Given the description of an element on the screen output the (x, y) to click on. 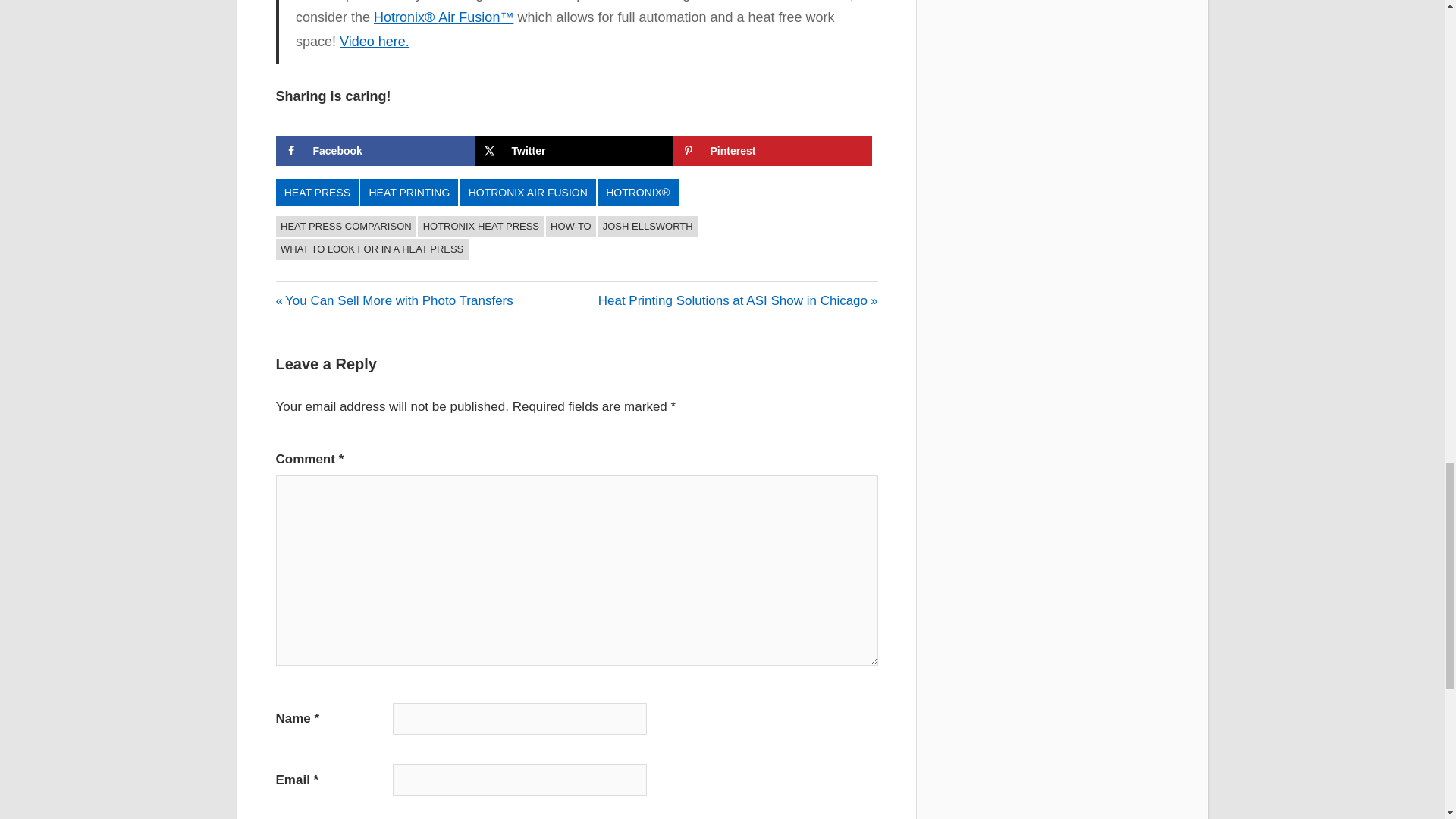
HOTRONIX AIR FUSION (527, 192)
Share on X (573, 150)
Video here. (374, 41)
HEAT PRESS (317, 192)
HOTRONIX HEAT PRESS (480, 226)
Facebook (375, 150)
Twitter (573, 150)
WHAT TO LOOK FOR IN A HEAT PRESS (372, 249)
HEAT PRESS COMPARISON (346, 226)
Save to Pinterest (772, 150)
JOSH ELLSWORTH (394, 300)
HEAT PRINTING (646, 226)
HOW-TO (408, 192)
Pinterest (571, 226)
